Given the description of an element on the screen output the (x, y) to click on. 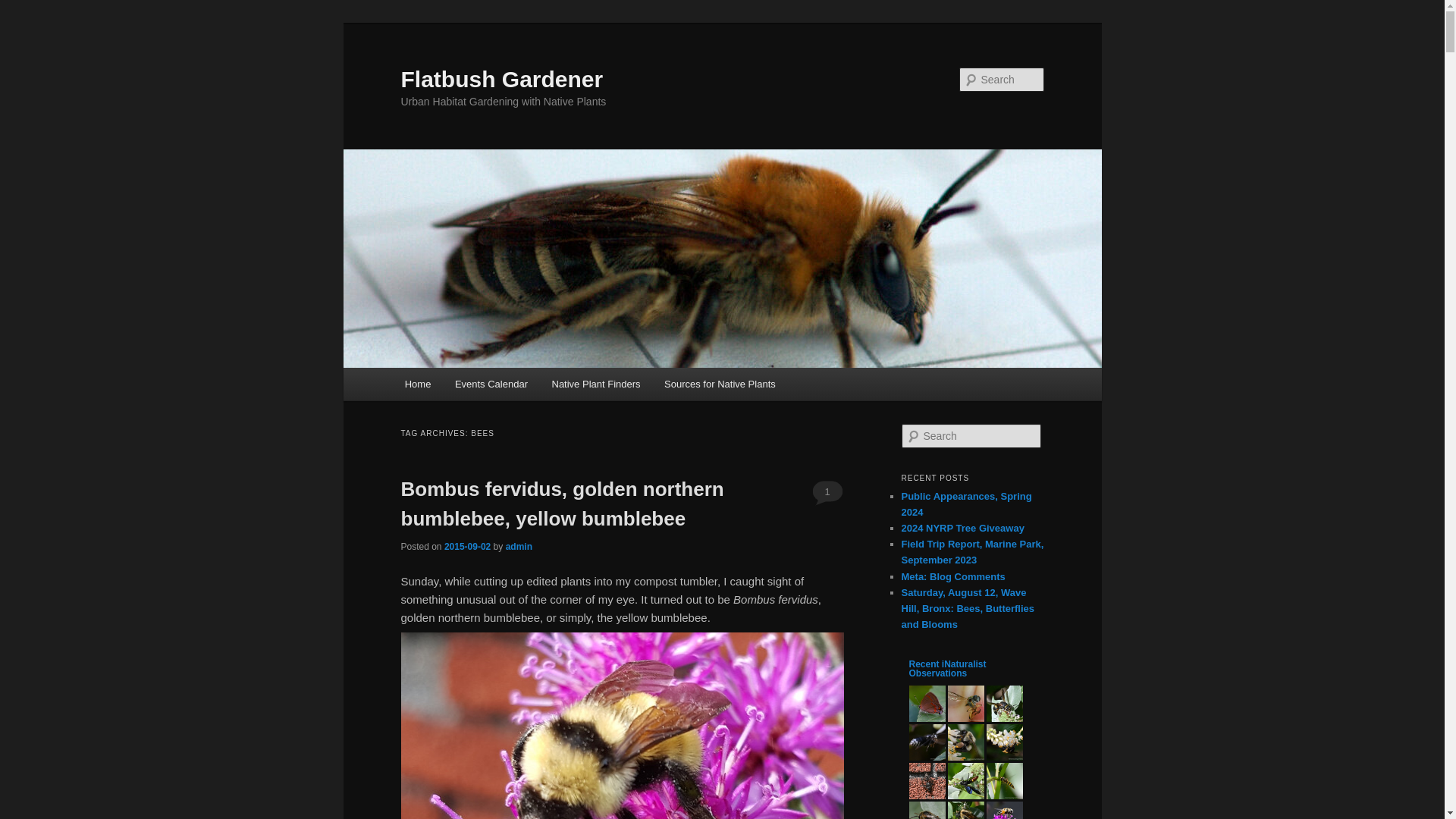
03:19 (467, 546)
Flatbush Gardener (501, 78)
2015-09-02 (467, 546)
admin (518, 546)
Bombus fervidus, golden northern bumblebee, yellow bumblebee (561, 503)
Sources for Native Plants (719, 383)
Events Calendar (491, 383)
View all posts by admin (518, 546)
Native Plant Finders (596, 383)
Home (417, 383)
